Given the description of an element on the screen output the (x, y) to click on. 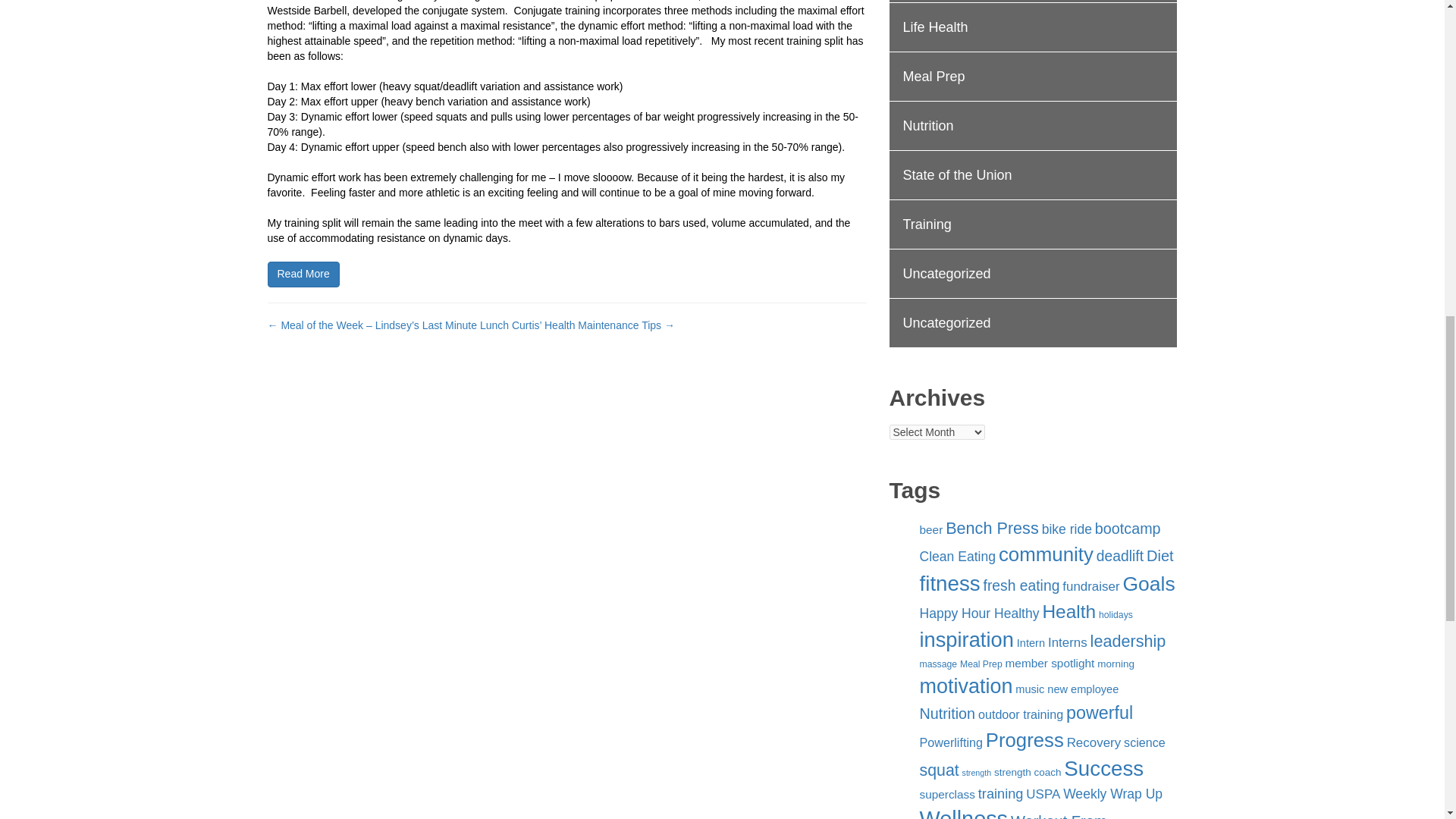
State of the Union (1032, 174)
Uncategorized (1032, 273)
beer (930, 529)
Uncategorized (1032, 323)
Bench Press (991, 527)
Training (1032, 224)
Nutrition (1032, 125)
Read More (302, 274)
Meal Prep (1032, 76)
Life Health (1032, 27)
